Given the description of an element on the screen output the (x, y) to click on. 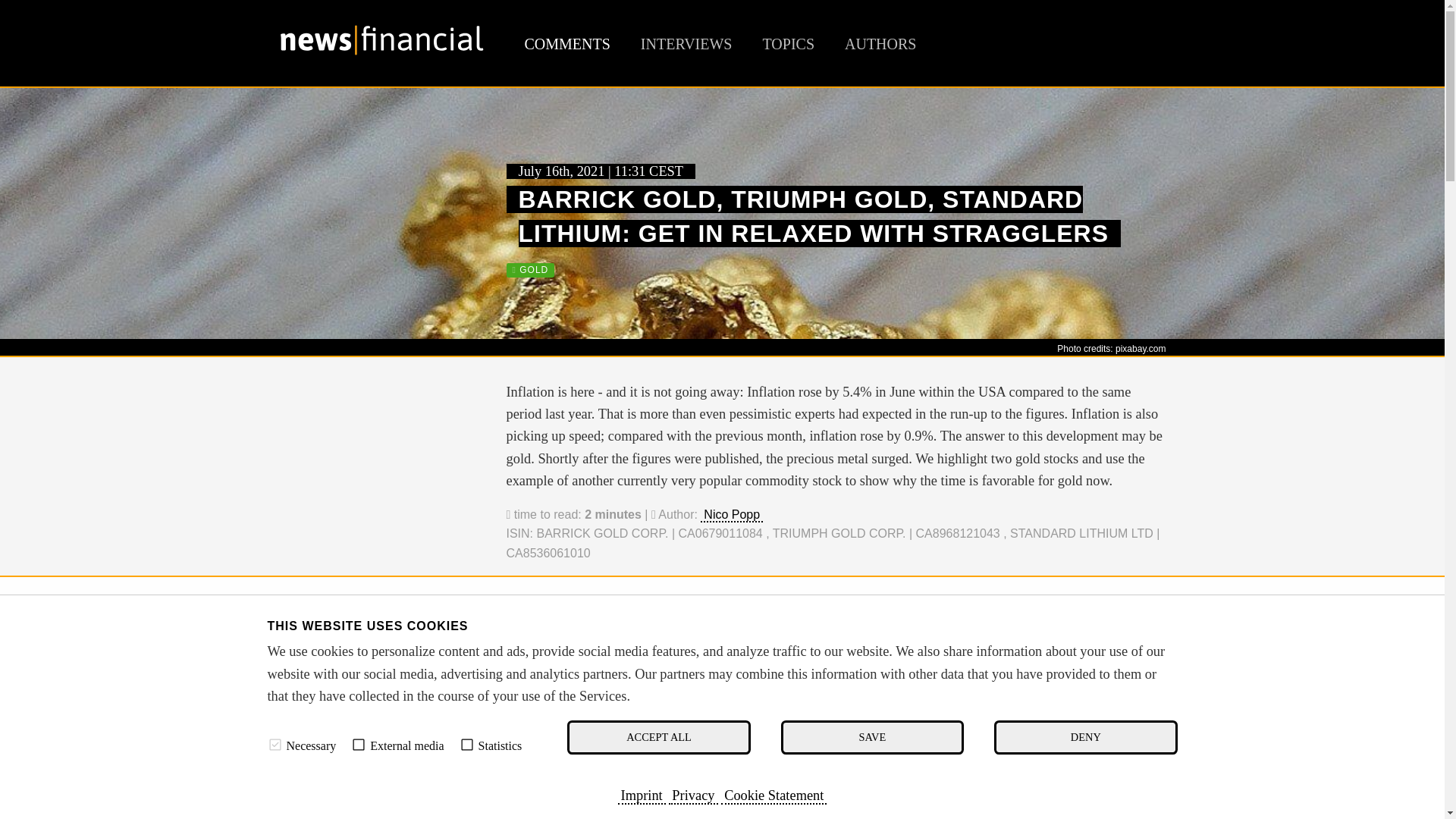
INTERVIEWS (686, 44)
COMMENTS (566, 44)
DENY (1085, 737)
STANDARD LITHIUM: THE CALM IS DECEPTIVE (687, 689)
TOPICS (787, 44)
SAVE (871, 737)
AUTHORS (879, 44)
BARRICK GOLD: WHEN WILL THE LIBERATION STRIKE FOLLOW? (746, 651)
Nico Popp (731, 514)
Cookie Statement (773, 795)
Imprint (641, 795)
ACCEPT ALL (658, 737)
David Mason, Managing Director, CEO, NewPeak Metals Ltd. (380, 793)
Privacy (692, 795)
